Given the description of an element on the screen output the (x, y) to click on. 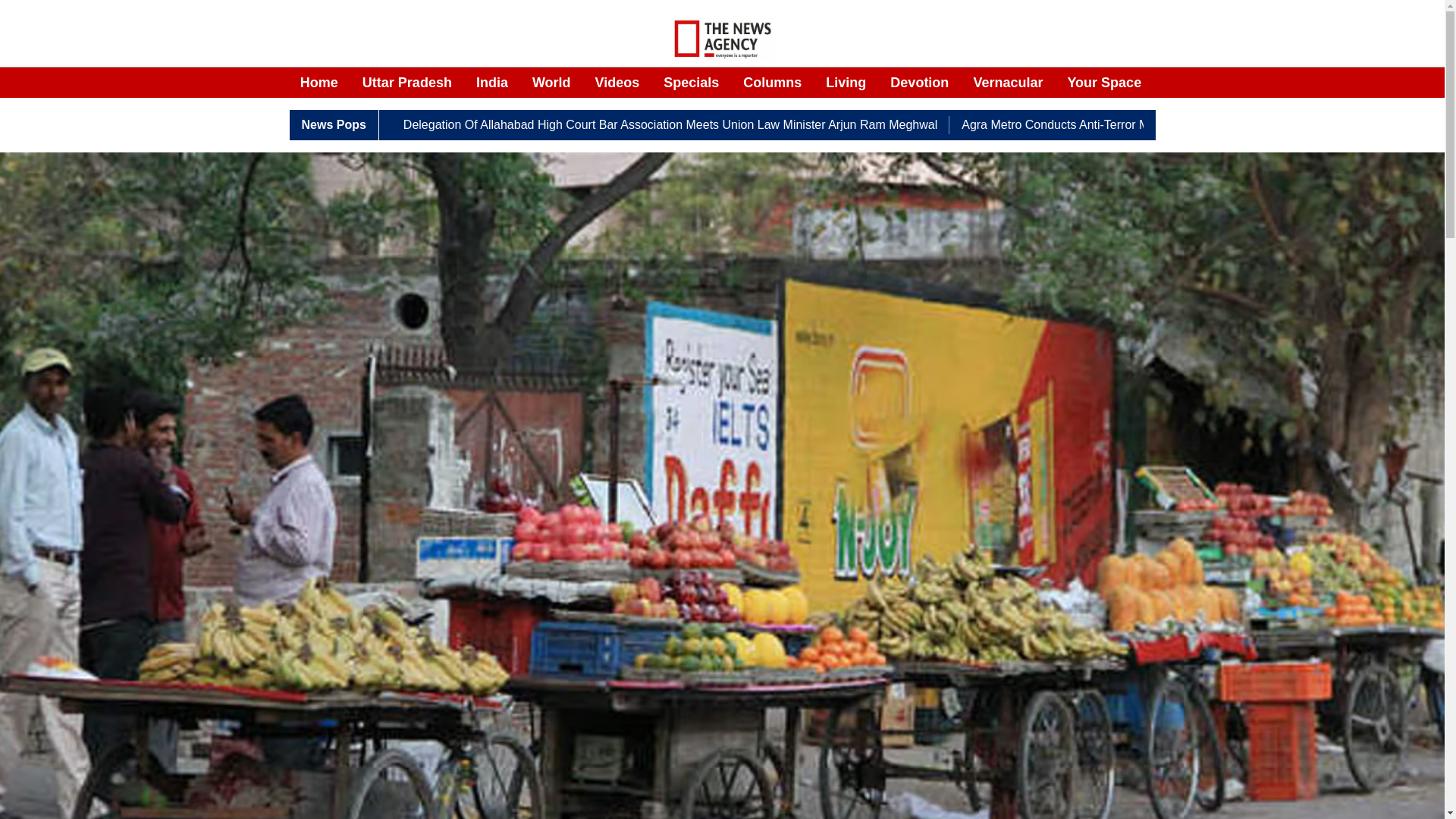
Home (318, 82)
Specials (691, 82)
Living (845, 82)
Your Space (1104, 82)
World (551, 82)
Devotion (919, 82)
India (492, 82)
Vernacular (1007, 82)
